Given the description of an element on the screen output the (x, y) to click on. 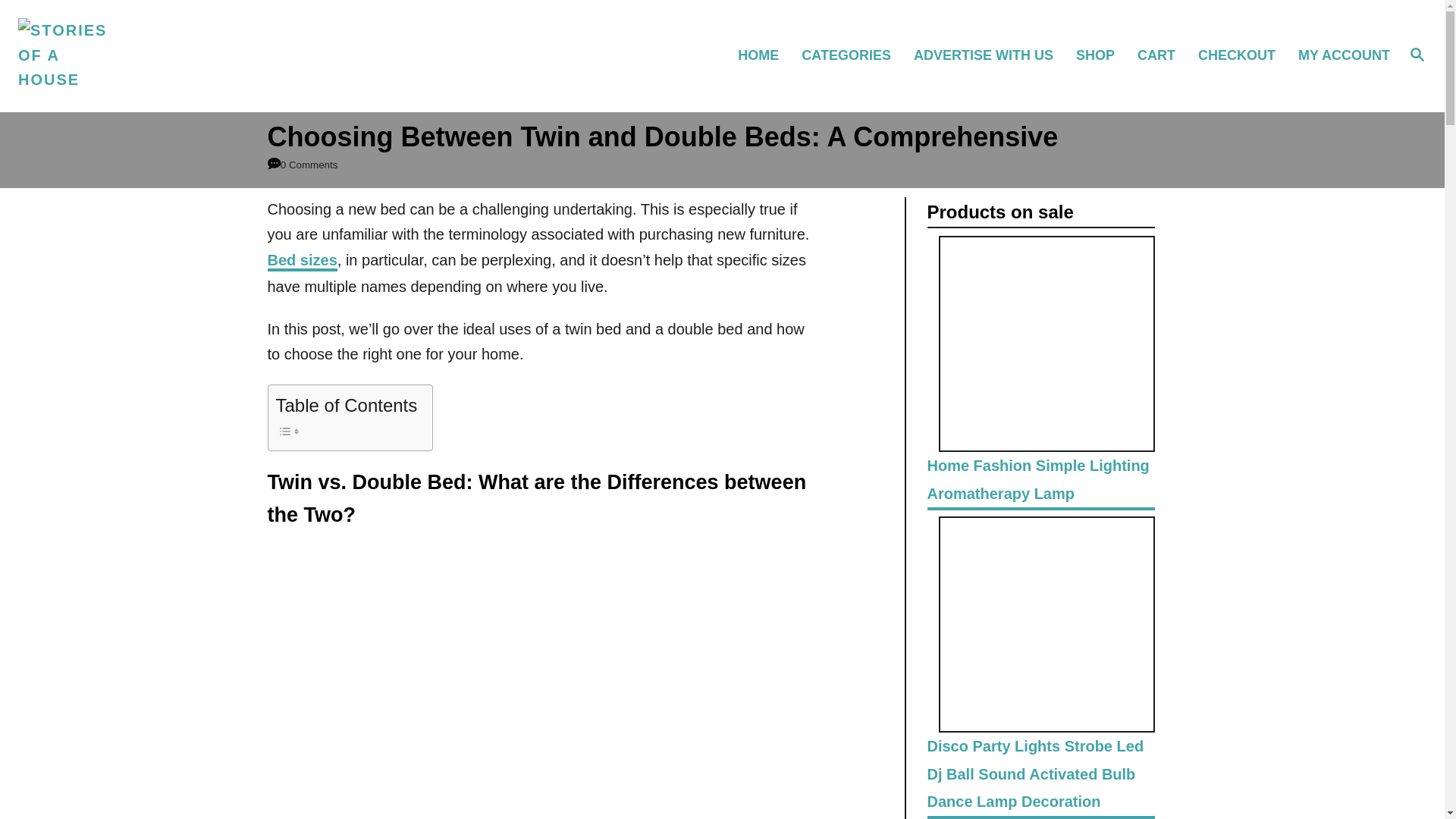
Bed sizes (301, 261)
Magnifying Glass (1416, 54)
ADVERTISE WITH US (989, 55)
Stories of a House (187, 56)
HOME (764, 55)
CATEGORIES (852, 55)
MY ACCOUNT (1342, 55)
CART (1162, 55)
CHECKOUT (1243, 55)
SHOP (1101, 55)
